Given the description of an element on the screen output the (x, y) to click on. 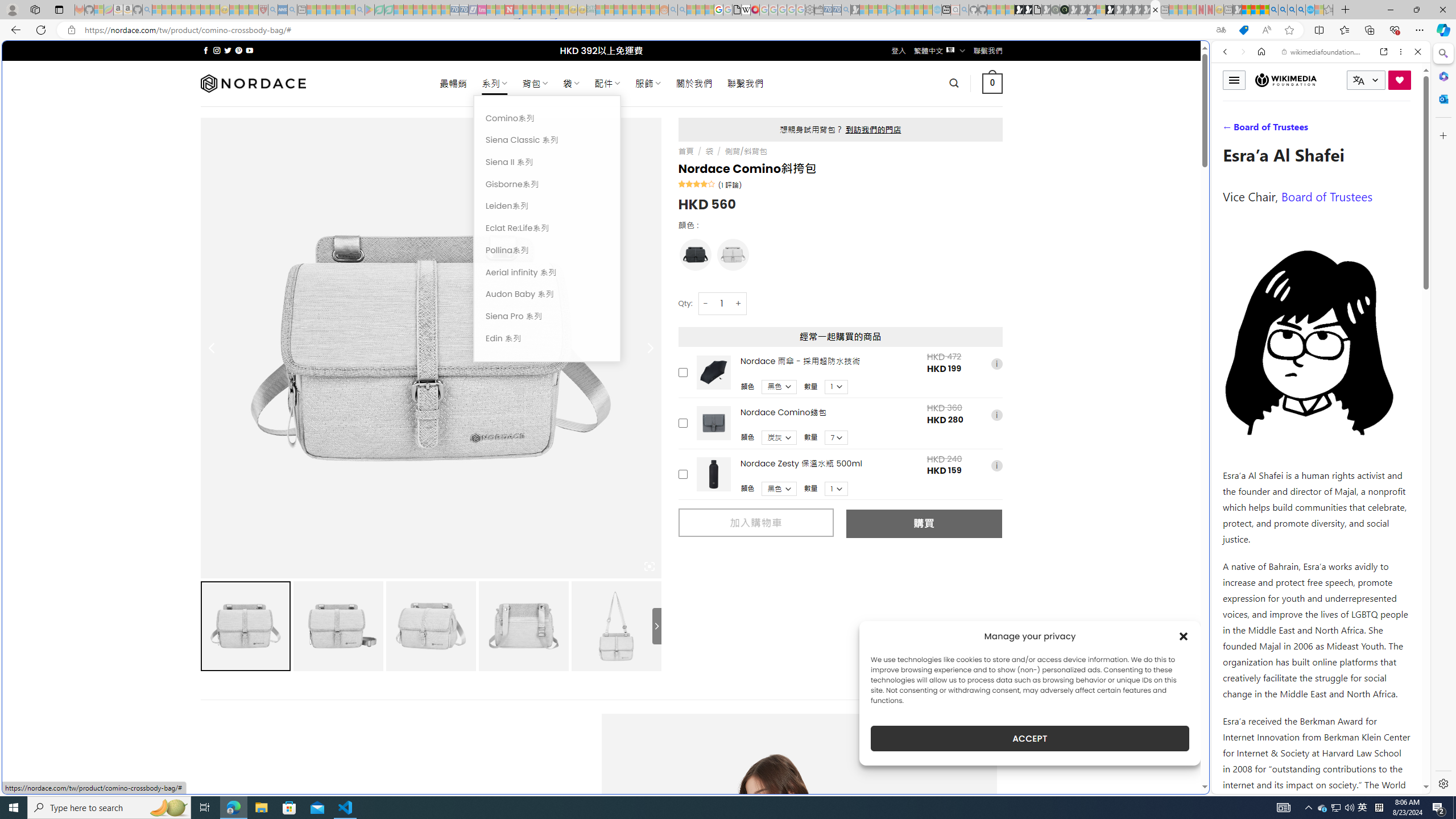
DITOGAMES AG Imprint - Sleeping (590, 9)
Settings - Sleeping (809, 9)
Nordace (252, 83)
Latest Politics News & Archive | Newsweek.com - Sleeping (508, 9)
Recipes - MSN - Sleeping (234, 9)
Web scope (1230, 102)
Wikimedia Foundation (1285, 79)
Class: b_serphb (1404, 130)
Search Filter, VIDEOS (1300, 129)
Local - MSN - Sleeping (253, 9)
Bluey: Let's Play! - Apps on Google Play - Sleeping (369, 9)
